Given the description of an element on the screen output the (x, y) to click on. 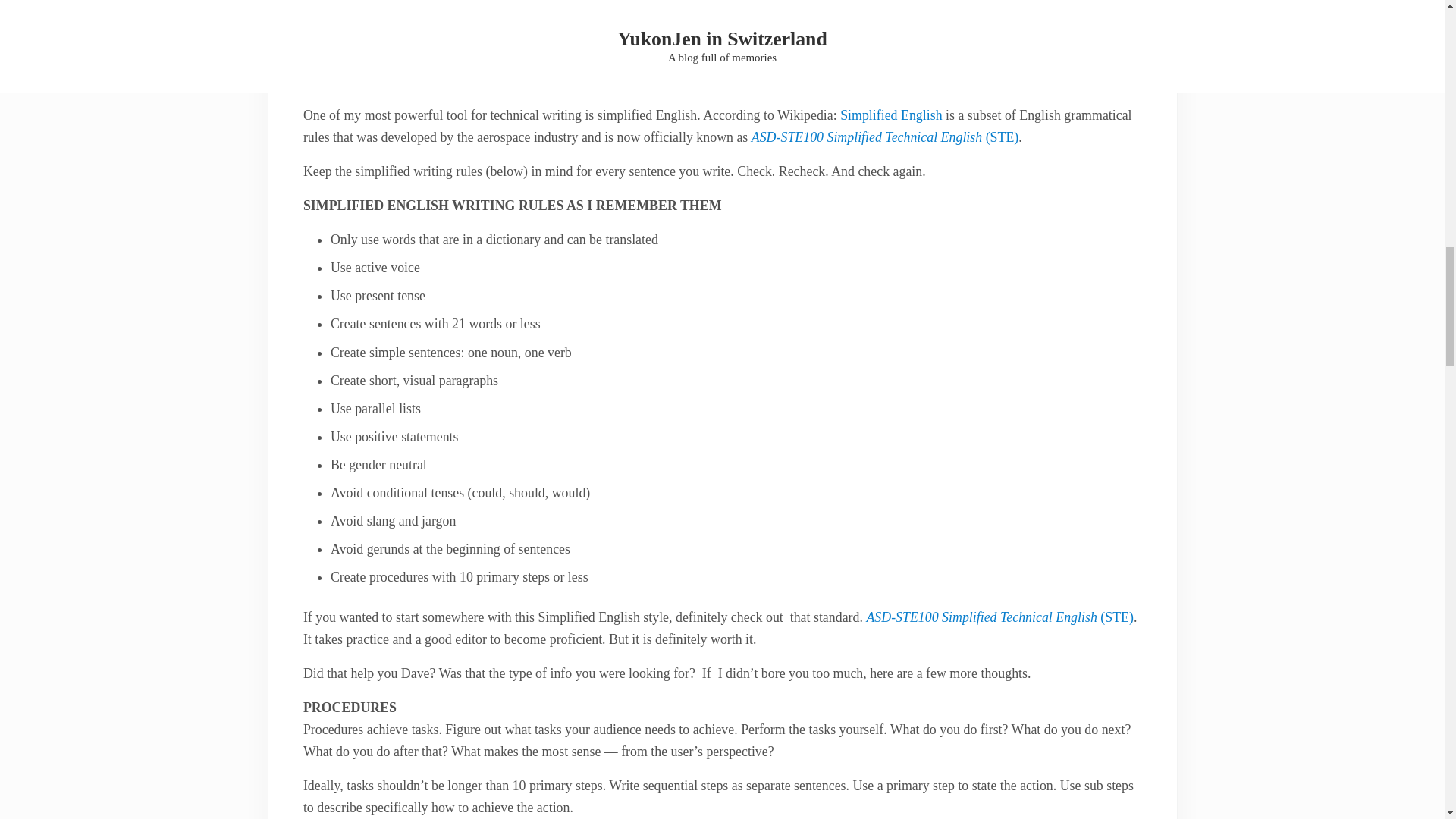
Simplified English (891, 114)
Simplified English (891, 114)
Simplified English Standard (885, 136)
Simplified English Standard (1000, 616)
